Given the description of an element on the screen output the (x, y) to click on. 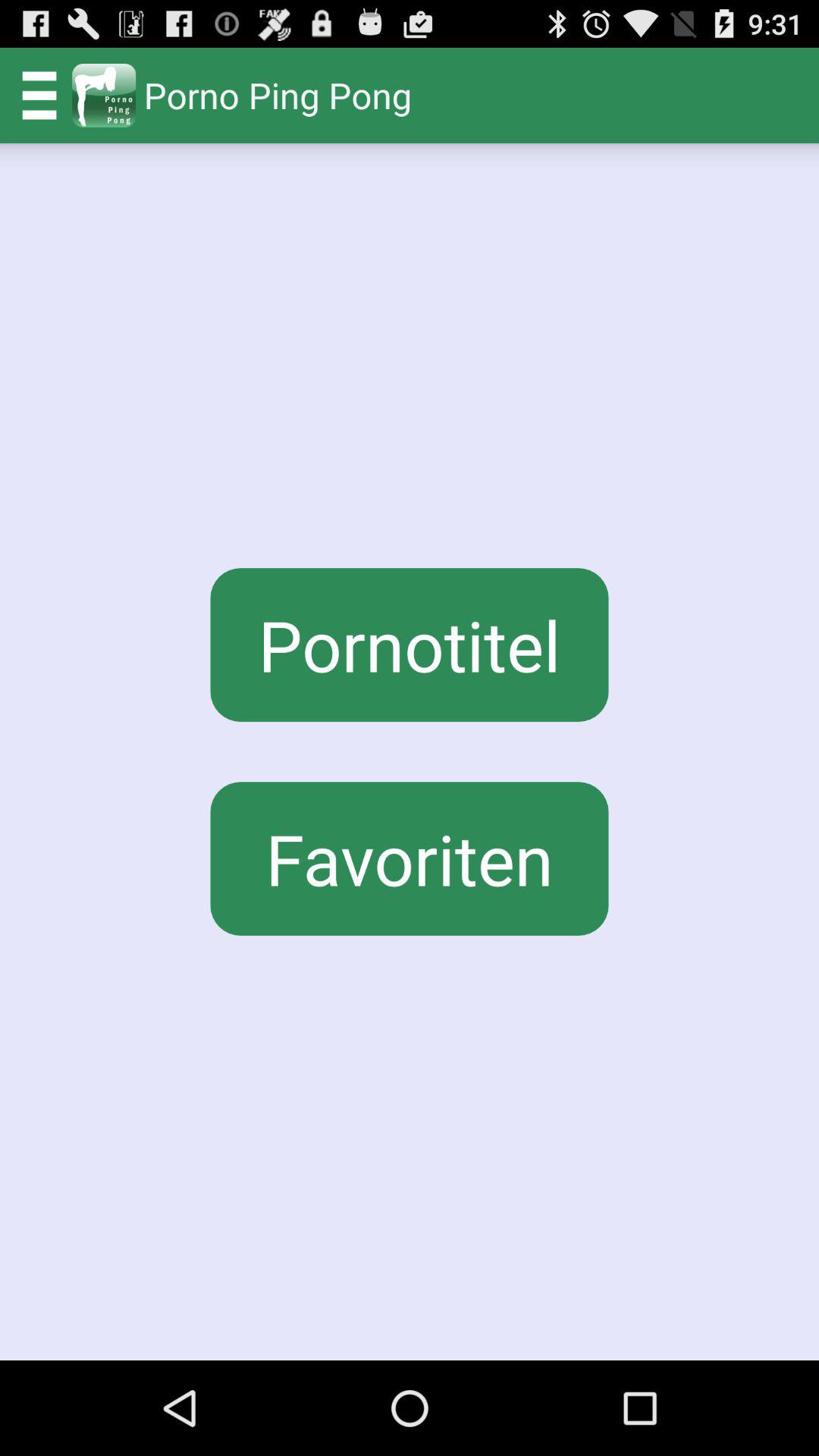
open the pornotitel item (409, 644)
